Given the description of an element on the screen output the (x, y) to click on. 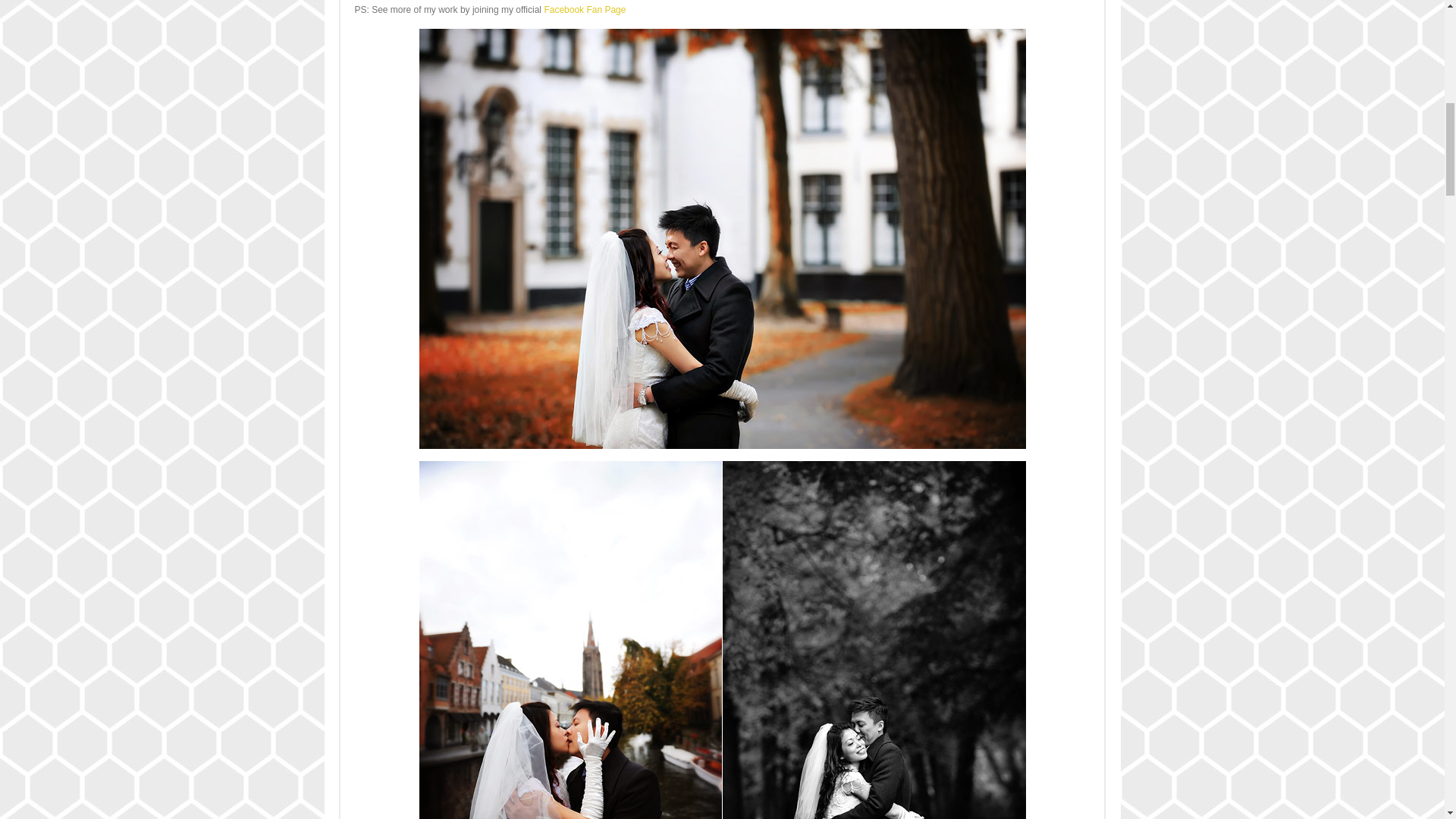
Facebook Fan Page (584, 9)
